Given the description of an element on the screen output the (x, y) to click on. 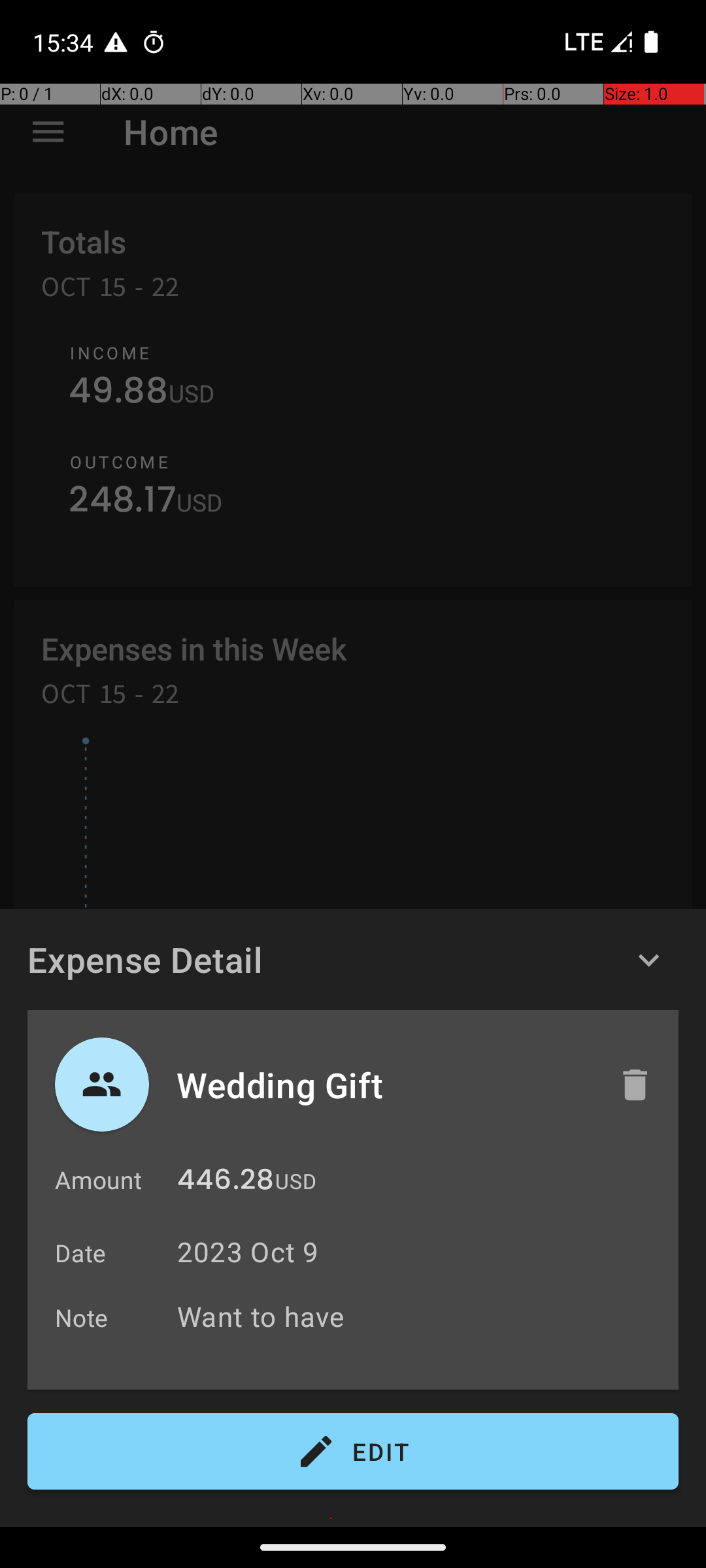
Expense Detail Element type: android.widget.TextView (145, 959)
Wedding Gift Element type: android.widget.TextView (383, 1084)
Amount Element type: android.widget.TextView (97, 1179)
446.28 Element type: android.widget.TextView (225, 1182)
Date Element type: android.widget.TextView (80, 1252)
2023 Oct 9 Element type: android.widget.TextView (247, 1251)
Note Element type: android.widget.TextView (81, 1317)
Want to have Element type: android.widget.TextView (420, 1315)
EDIT Element type: android.widget.Button (352, 1451)
